Given the description of an element on the screen output the (x, y) to click on. 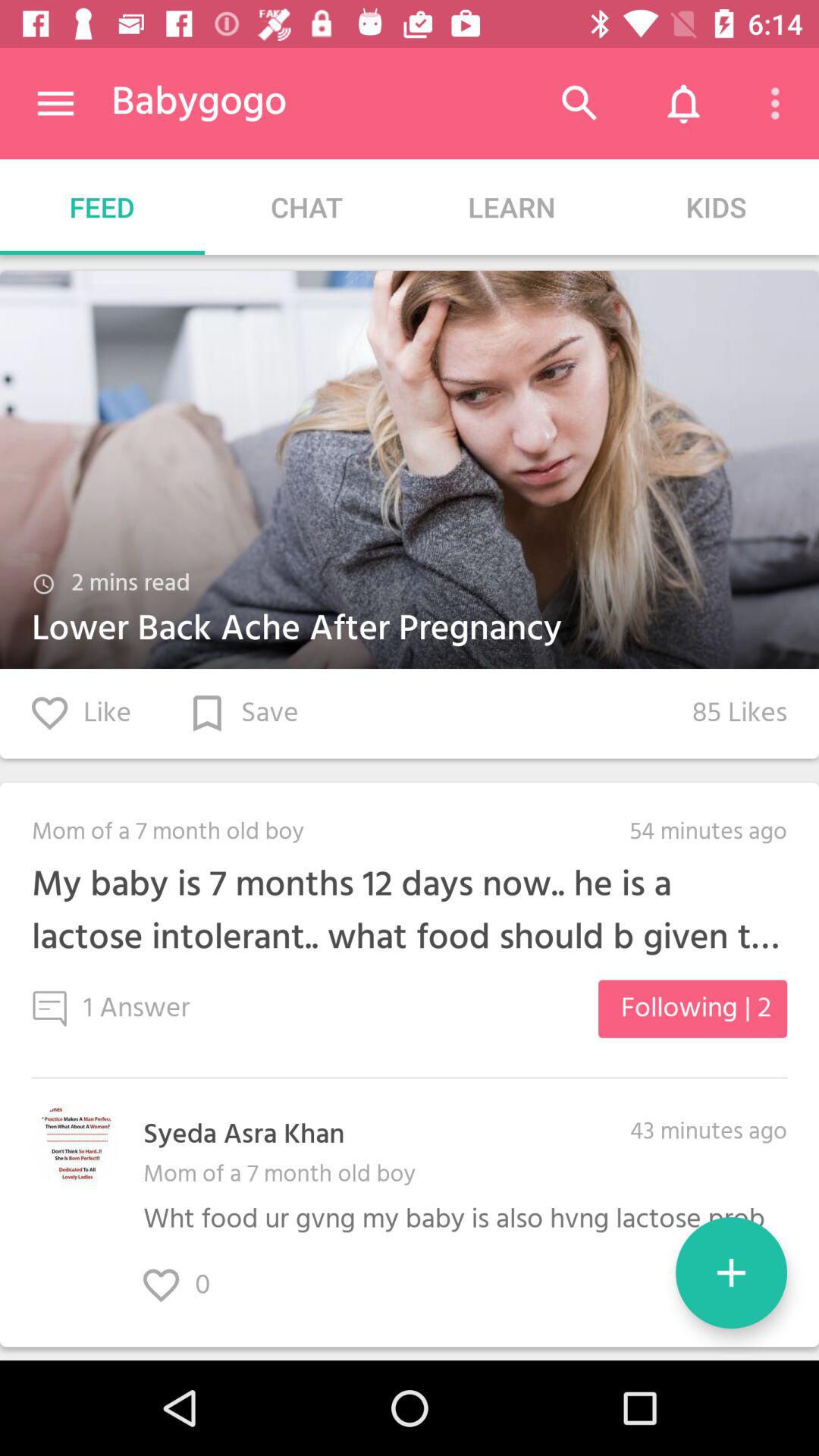
launch item next to the 0 (731, 1272)
